Given the description of an element on the screen output the (x, y) to click on. 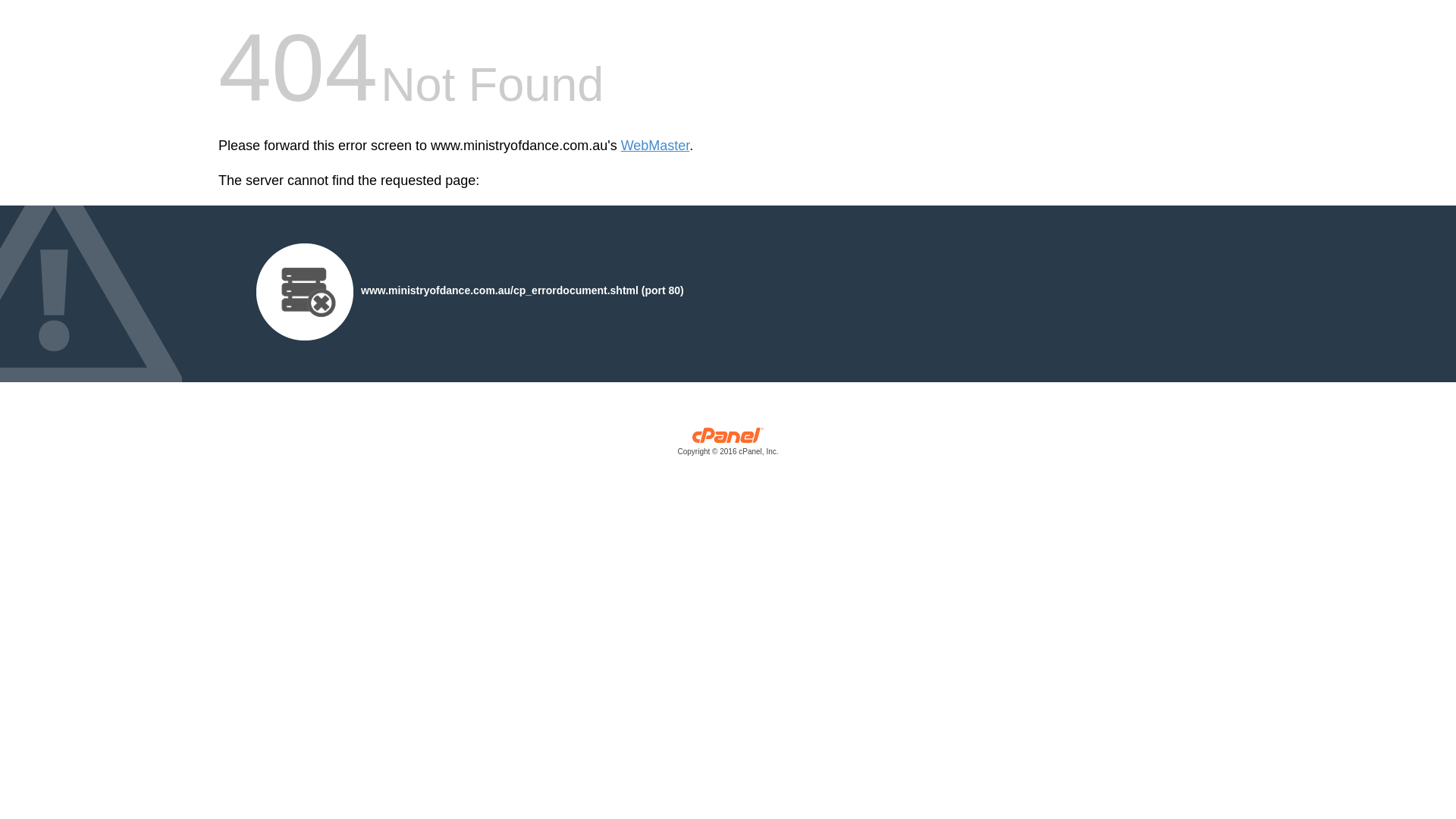
WebMaster Element type: text (655, 145)
